Given the description of an element on the screen output the (x, y) to click on. 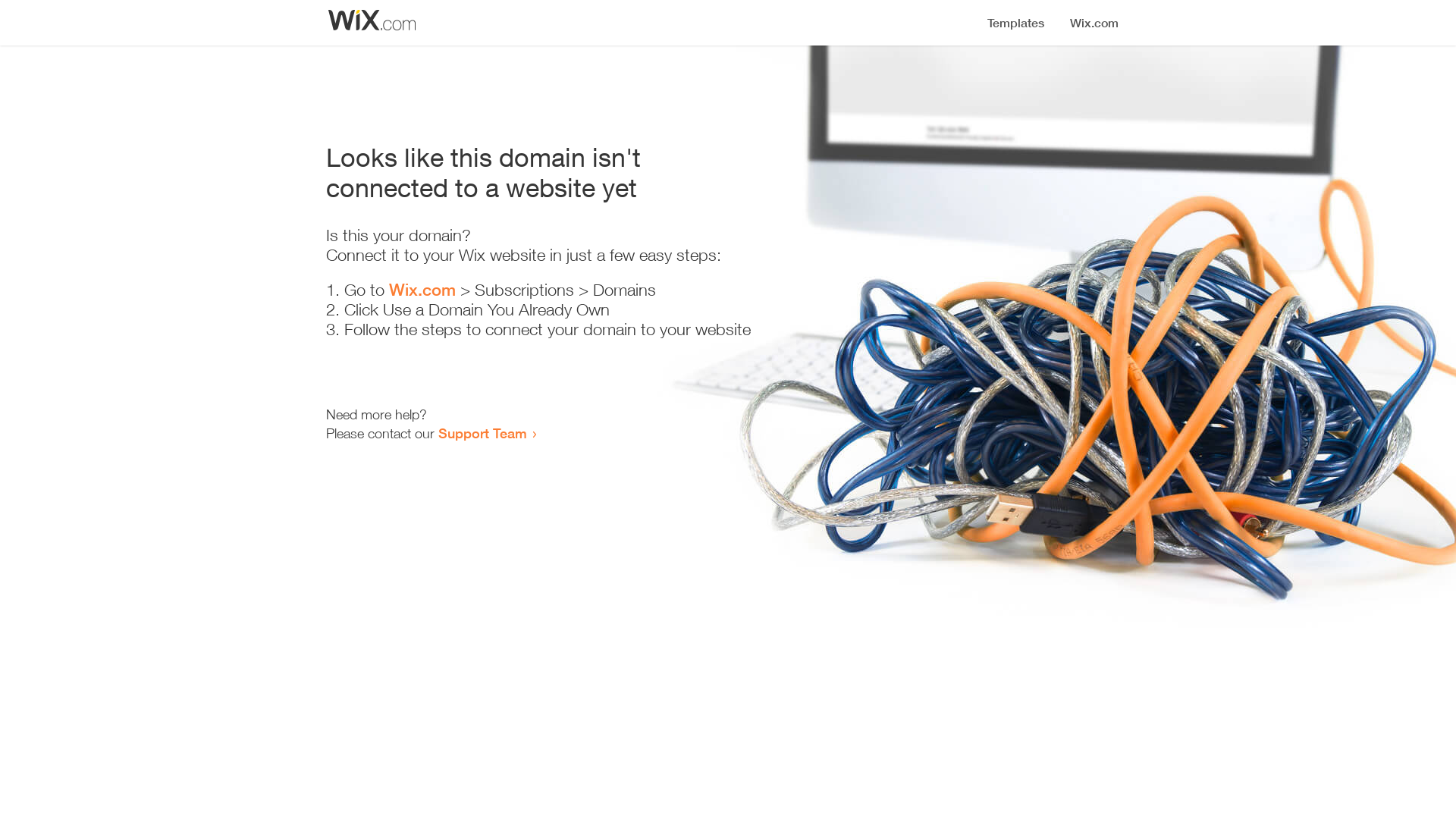
Support Team Element type: text (482, 432)
Wix.com Element type: text (422, 289)
